Given the description of an element on the screen output the (x, y) to click on. 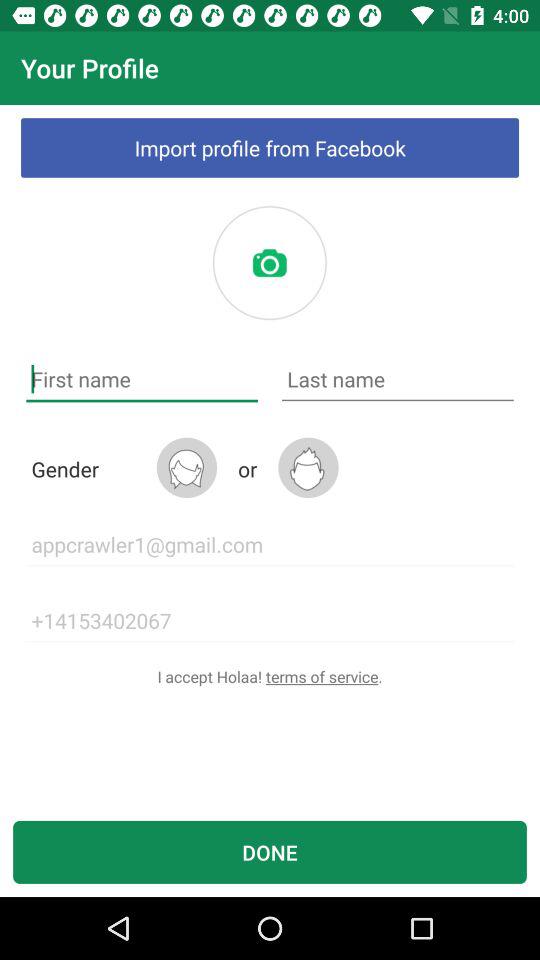
turn off the icon below +14153402067 icon (269, 676)
